Given the description of an element on the screen output the (x, y) to click on. 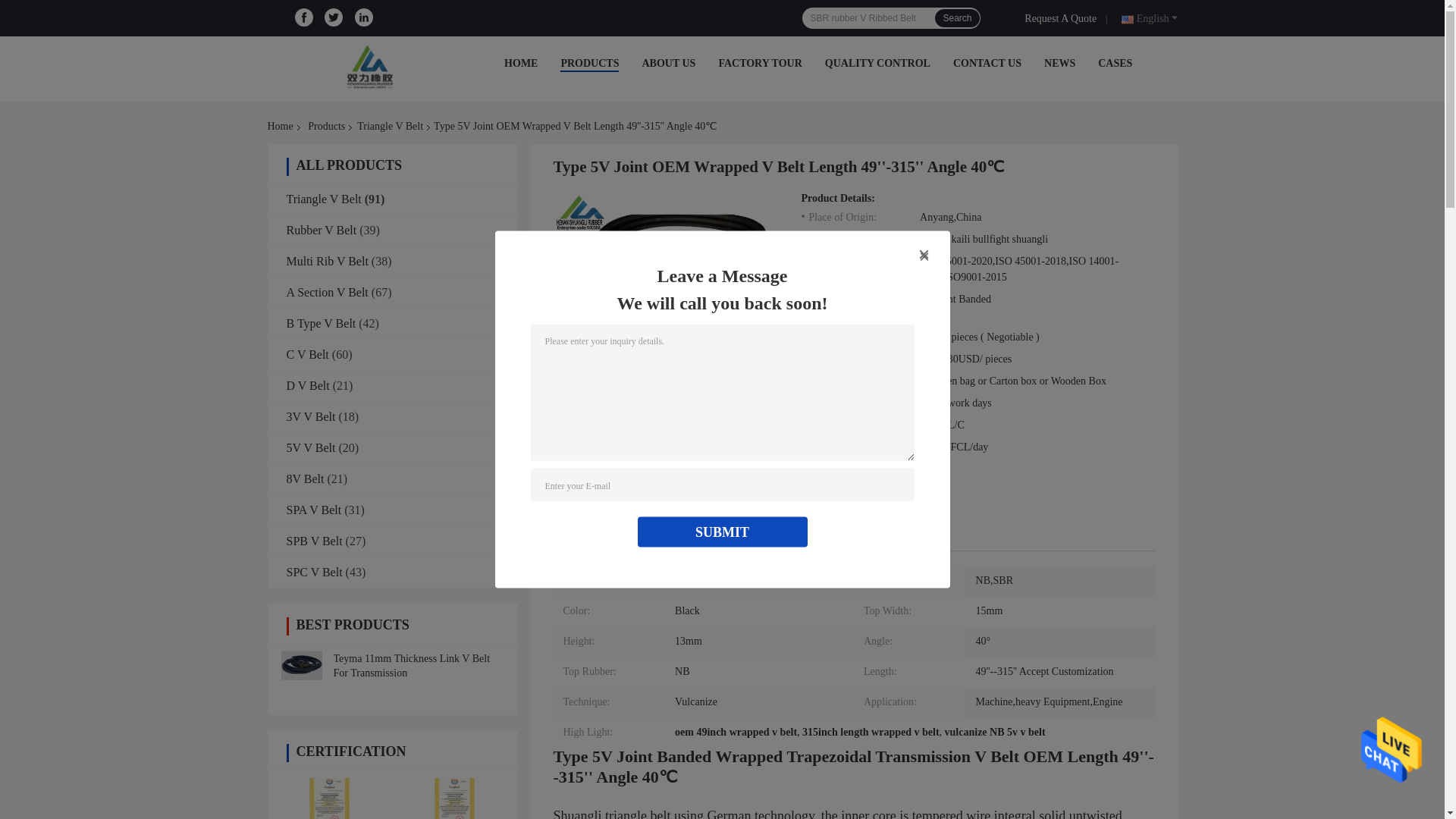
Quote (1063, 17)
CASES (1114, 62)
CONTACT US (987, 62)
Henan Shuangli Rubber Co., Ltd. (373, 66)
5V V Belt (311, 447)
8V Belt (305, 478)
Products (325, 126)
3V V Belt (311, 416)
D V Belt (308, 385)
Multi Rib V Belt (327, 260)
B Type V Belt (321, 323)
FACTORY TOUR (759, 62)
Triangle V Belt (389, 126)
Request A Quote (1063, 17)
Search (956, 18)
